Given the description of an element on the screen output the (x, y) to click on. 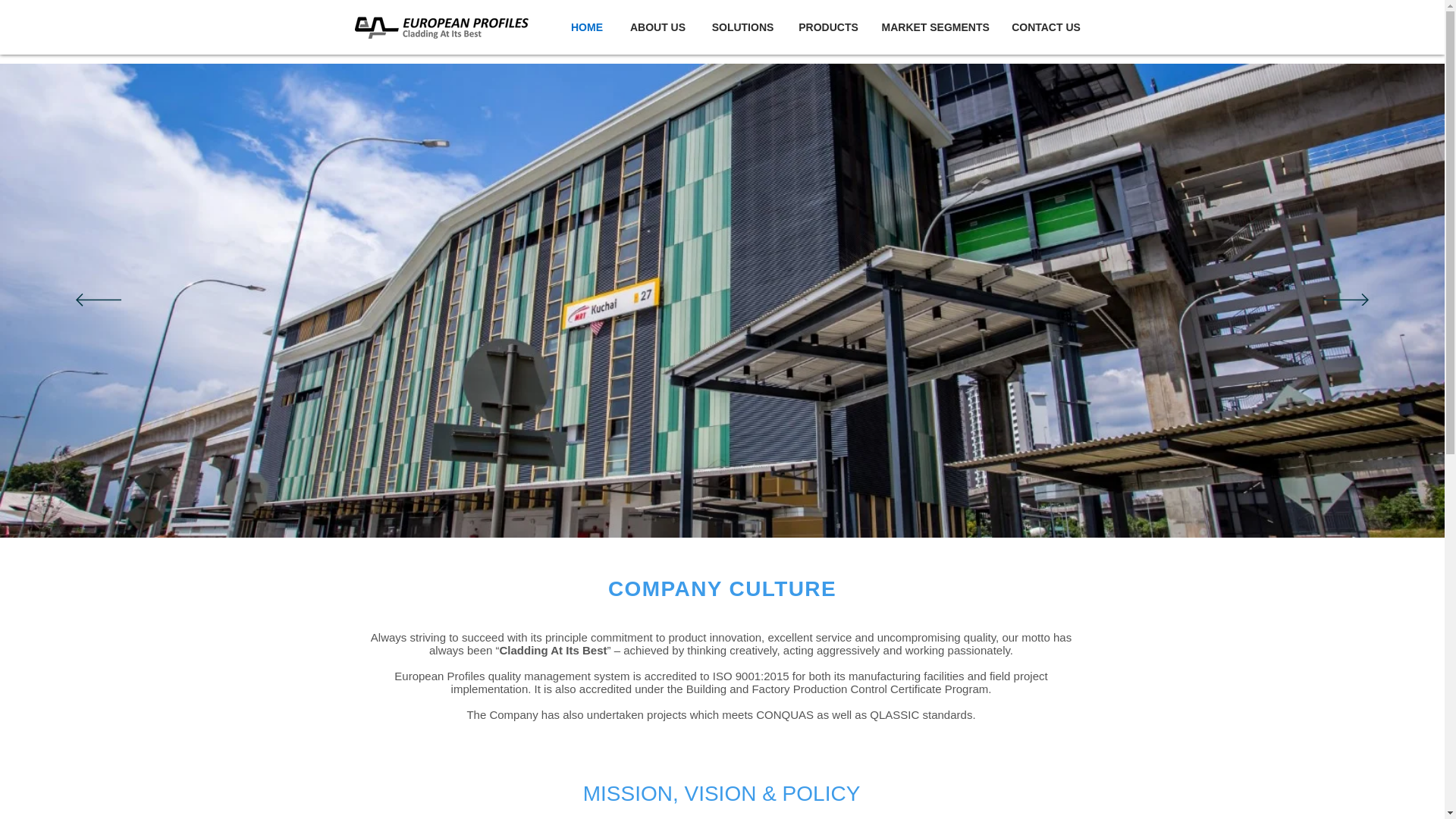
ABOUT US (657, 26)
MARKET SEGMENTS (934, 26)
PRODUCTS (828, 26)
HOME (585, 26)
CONTACT US (1045, 26)
SOLUTIONS (742, 26)
